Given the description of an element on the screen output the (x, y) to click on. 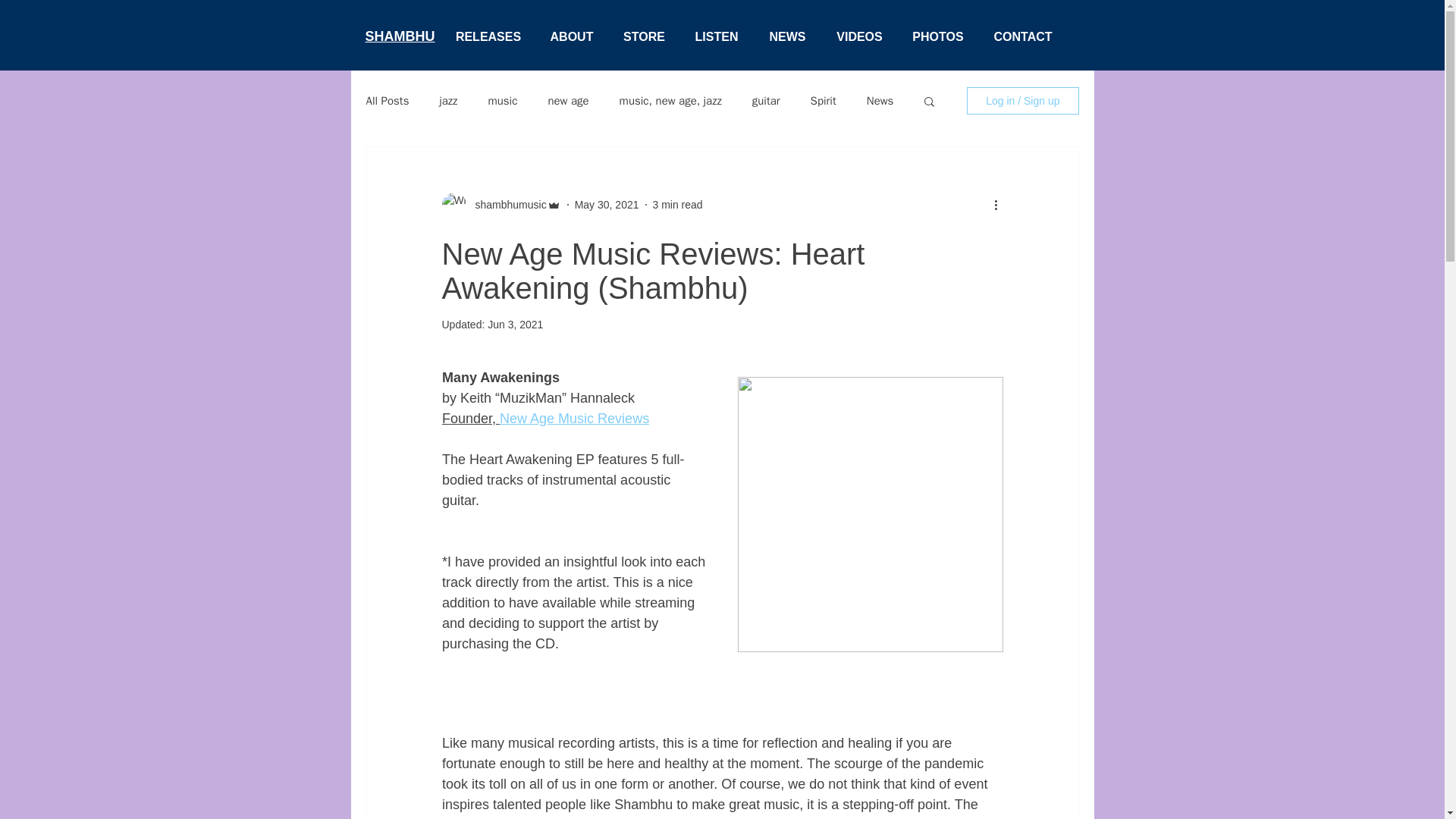
STORE (643, 37)
News (879, 101)
VIDEOS (860, 37)
LISTEN (715, 37)
jazz (448, 101)
shambhumusic (505, 204)
SHAMBHU (400, 36)
ABOUT (571, 37)
3 min read (676, 204)
music (501, 101)
